Given the description of an element on the screen output the (x, y) to click on. 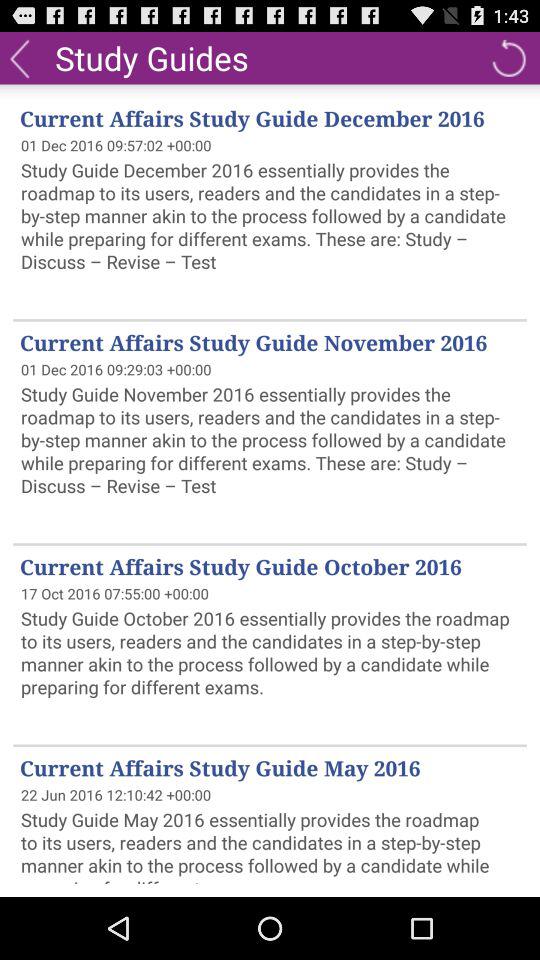
open study guides item (151, 57)
